Given the description of an element on the screen output the (x, y) to click on. 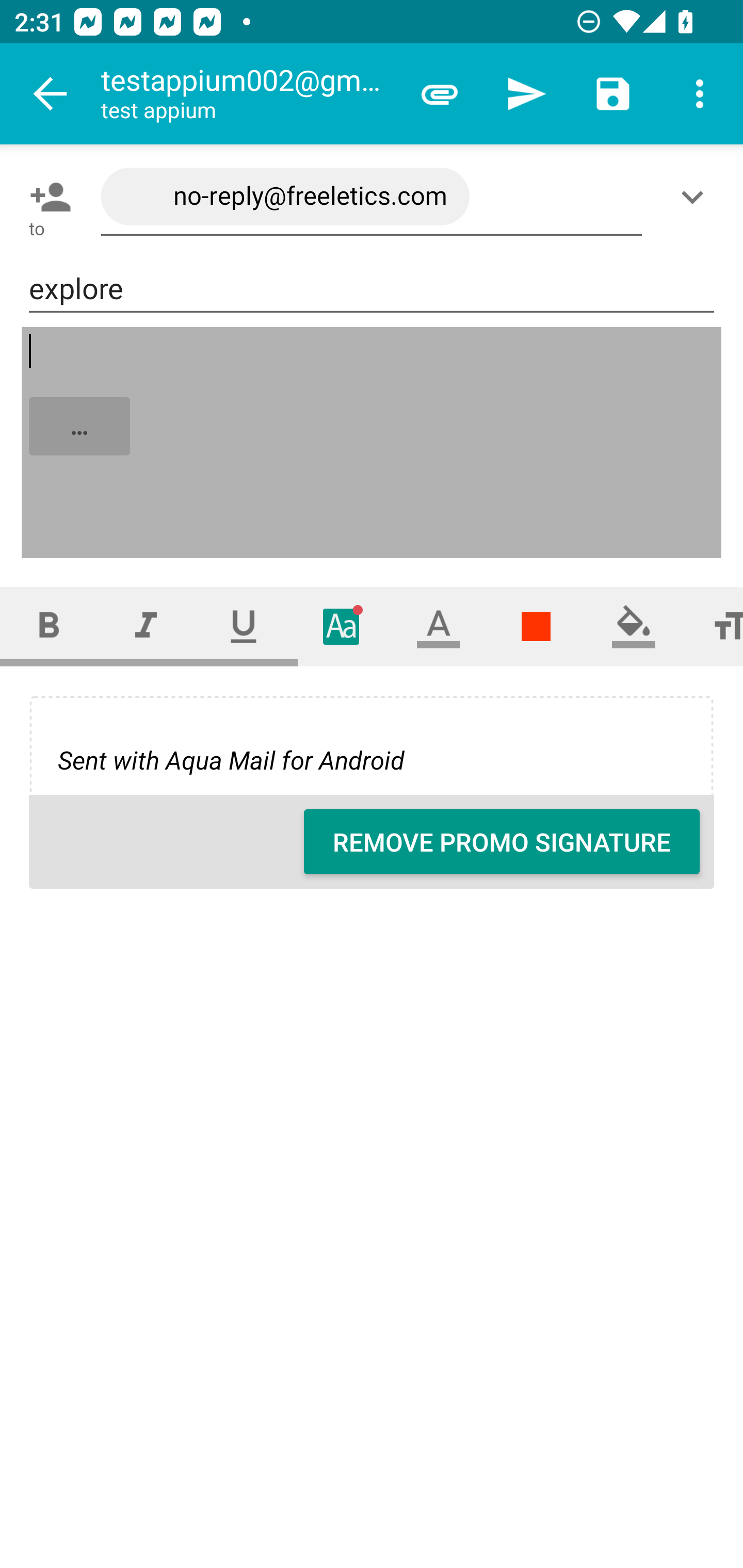
Navigate up (50, 93)
testappium002@gmail.com test appium (248, 93)
Attach (439, 93)
Send (525, 93)
Save (612, 93)
More options (699, 93)
no-reply@freeletics.com,  (371, 197)
Pick contact: To (46, 196)
Show/Add CC/BCC (696, 196)
explore (371, 288)

…
 (372, 442)
Bold (48, 626)
Italic (145, 626)
Underline (243, 626)
Typeface (font) (341, 626)
Text color (438, 626)
Text color (536, 626)
Fill color (633, 626)
REMOVE PROMO SIGNATURE (501, 841)
